Given the description of an element on the screen output the (x, y) to click on. 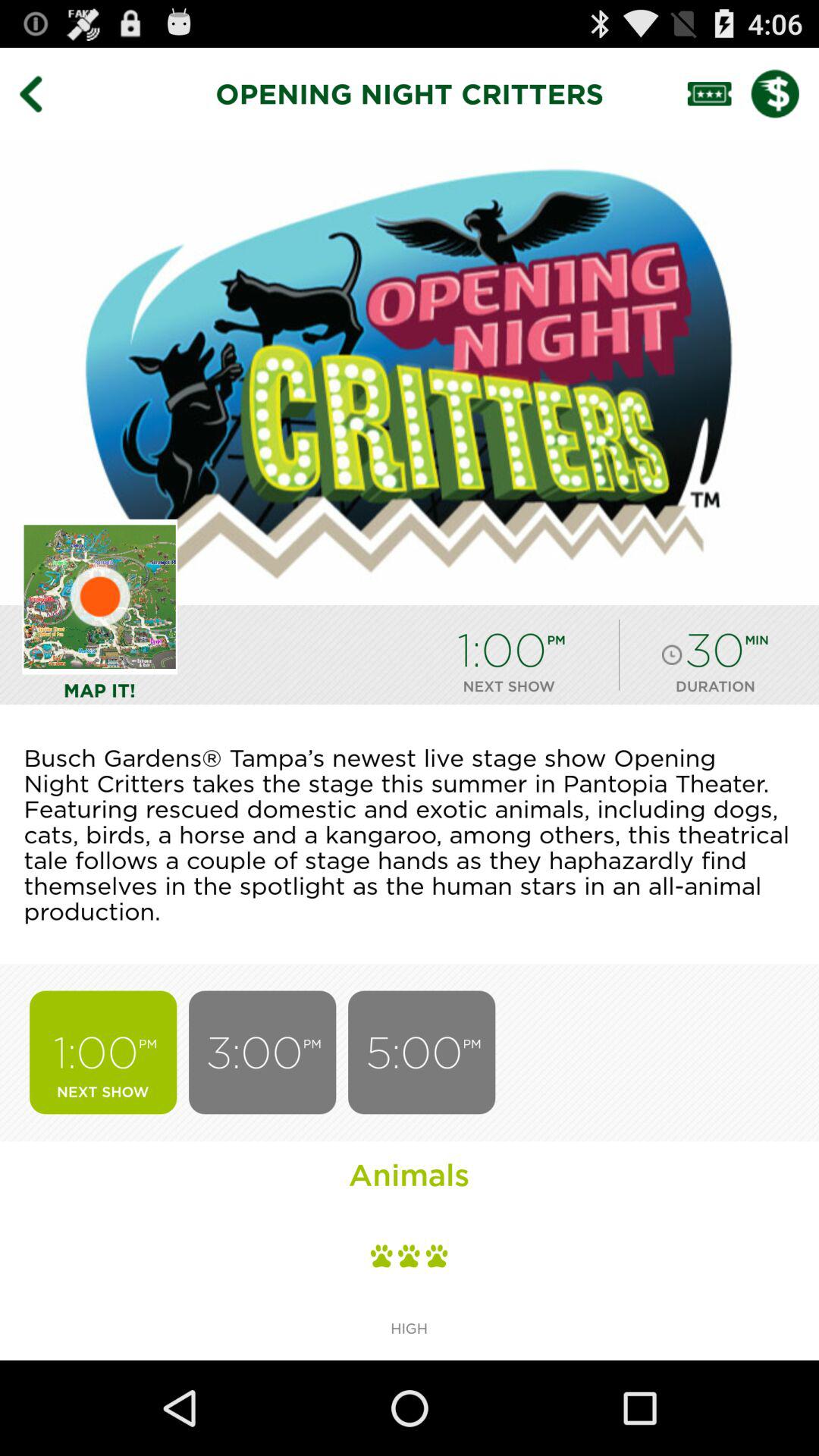
look at the map (99, 596)
